Given the description of an element on the screen output the (x, y) to click on. 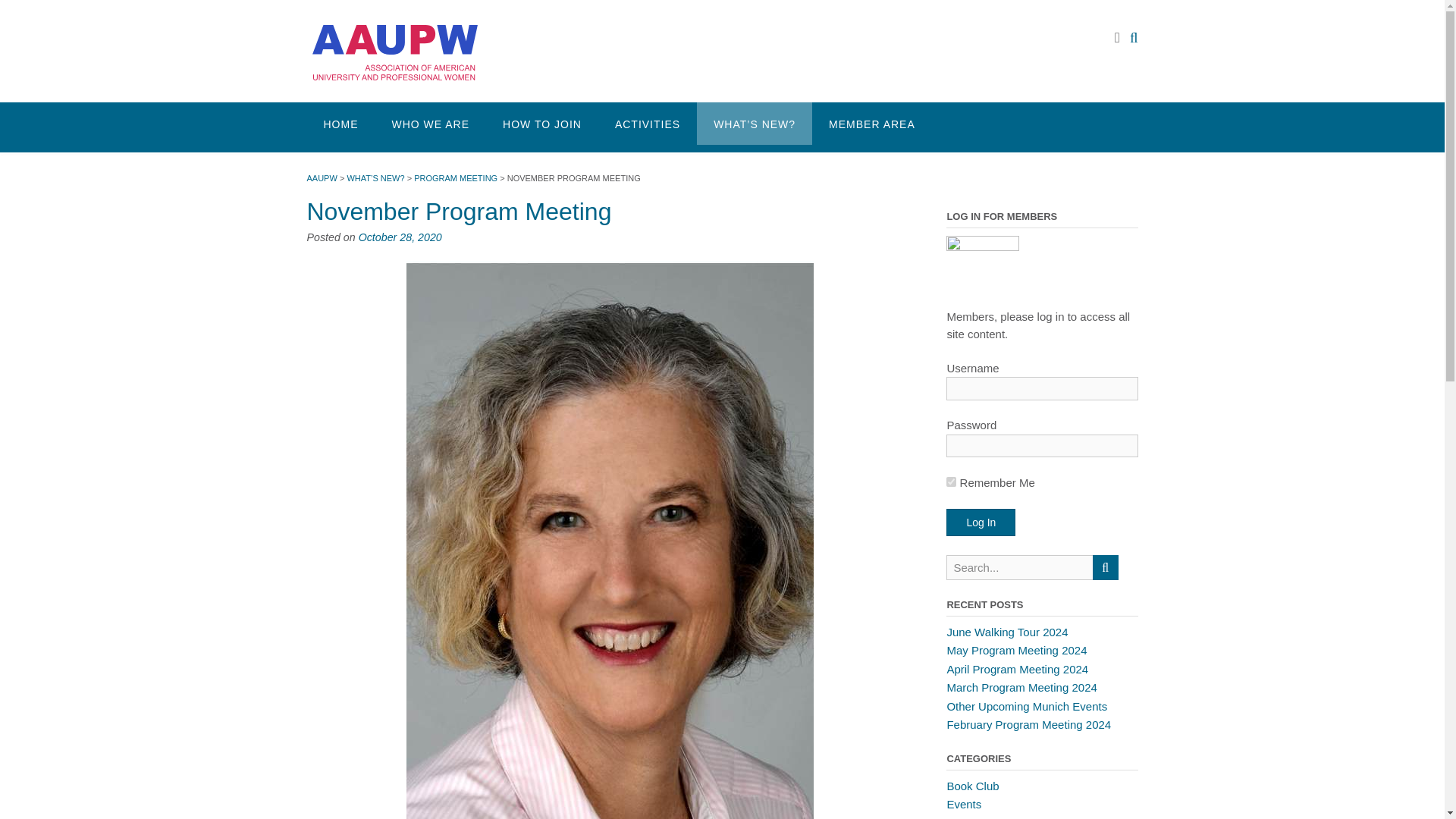
May Program Meeting 2024 (1016, 649)
Search for: (1019, 567)
Log In (980, 522)
Other Upcoming Munich Events (1026, 706)
February Program Meeting 2024 (1028, 724)
Log In (980, 522)
forever (951, 481)
Go to AAUPW. (320, 177)
Go to the Program Meeting category archives. (455, 177)
June Walking Tour 2024 (1006, 631)
